Given the description of an element on the screen output the (x, y) to click on. 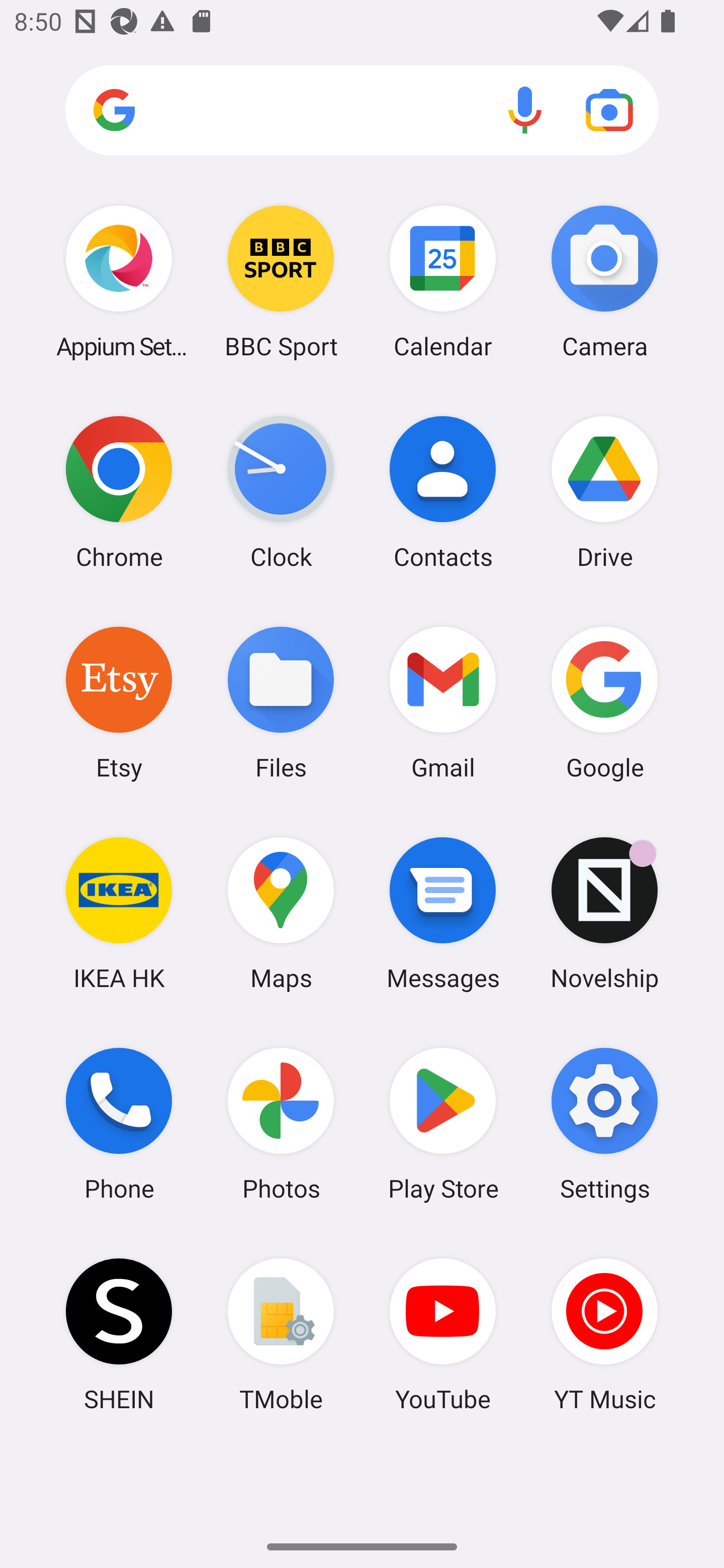
Search apps, web and more (361, 110)
Voice search (524, 109)
Google Lens (608, 109)
Appium Settings (118, 281)
BBC Sport (280, 281)
Calendar (443, 281)
Camera (604, 281)
Chrome (118, 492)
Clock (280, 492)
Contacts (443, 492)
Drive (604, 492)
Etsy (118, 702)
Files (280, 702)
Gmail (443, 702)
Google (604, 702)
IKEA HK (118, 913)
Maps (280, 913)
Messages (443, 913)
Novelship Novelship has 2 notifications (604, 913)
Phone (118, 1124)
Photos (280, 1124)
Play Store (443, 1124)
Settings (604, 1124)
SHEIN (118, 1334)
TMoble (280, 1334)
YouTube (443, 1334)
YT Music (604, 1334)
